Given the description of an element on the screen output the (x, y) to click on. 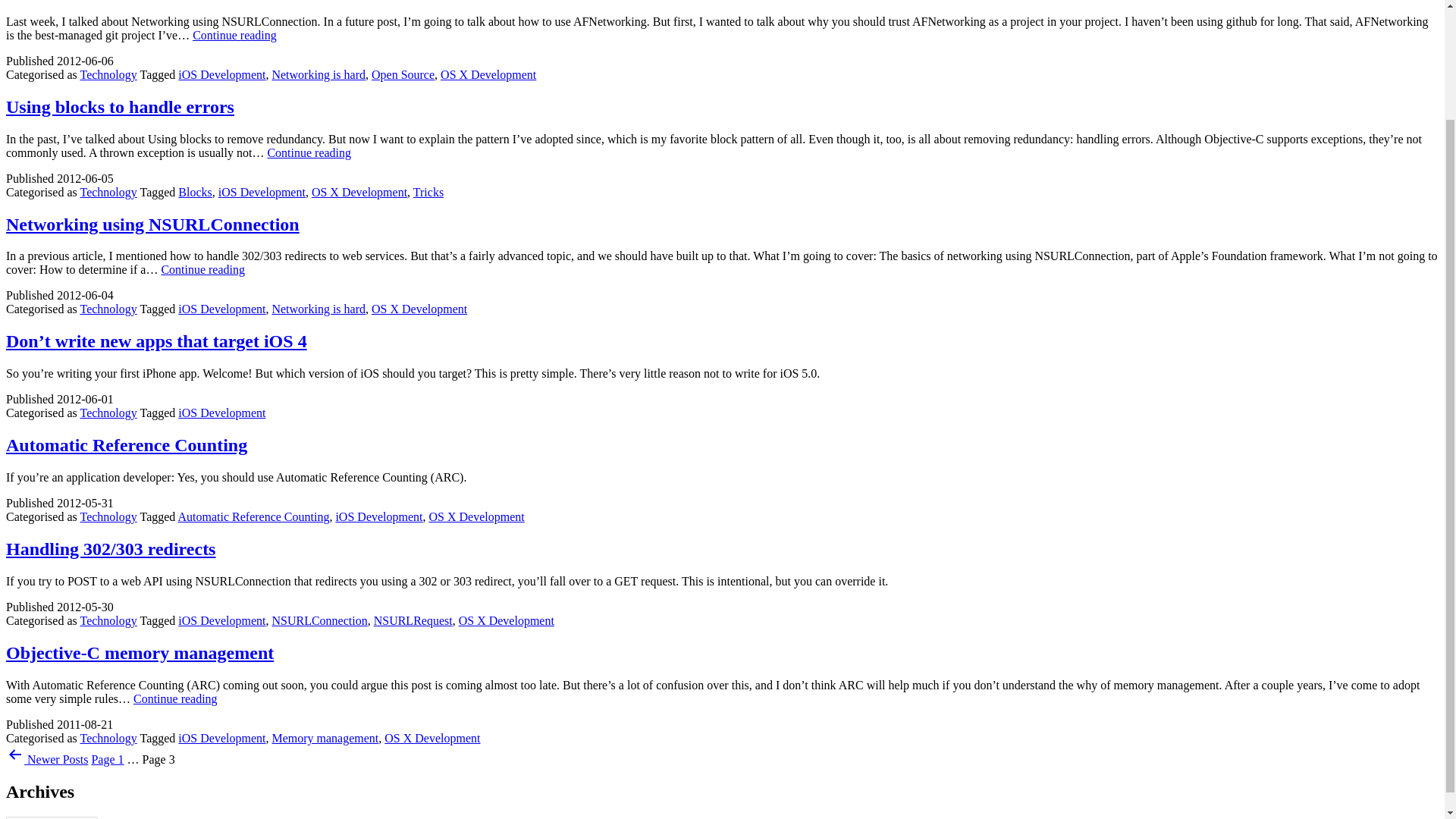
Technology (108, 308)
Blocks (194, 192)
Networking is hard (317, 308)
NSURLRequest (413, 620)
iOS Development (220, 738)
Technology (108, 620)
iOS Development (261, 192)
Objective-C memory management (139, 652)
iOS Development (174, 698)
